Given the description of an element on the screen output the (x, y) to click on. 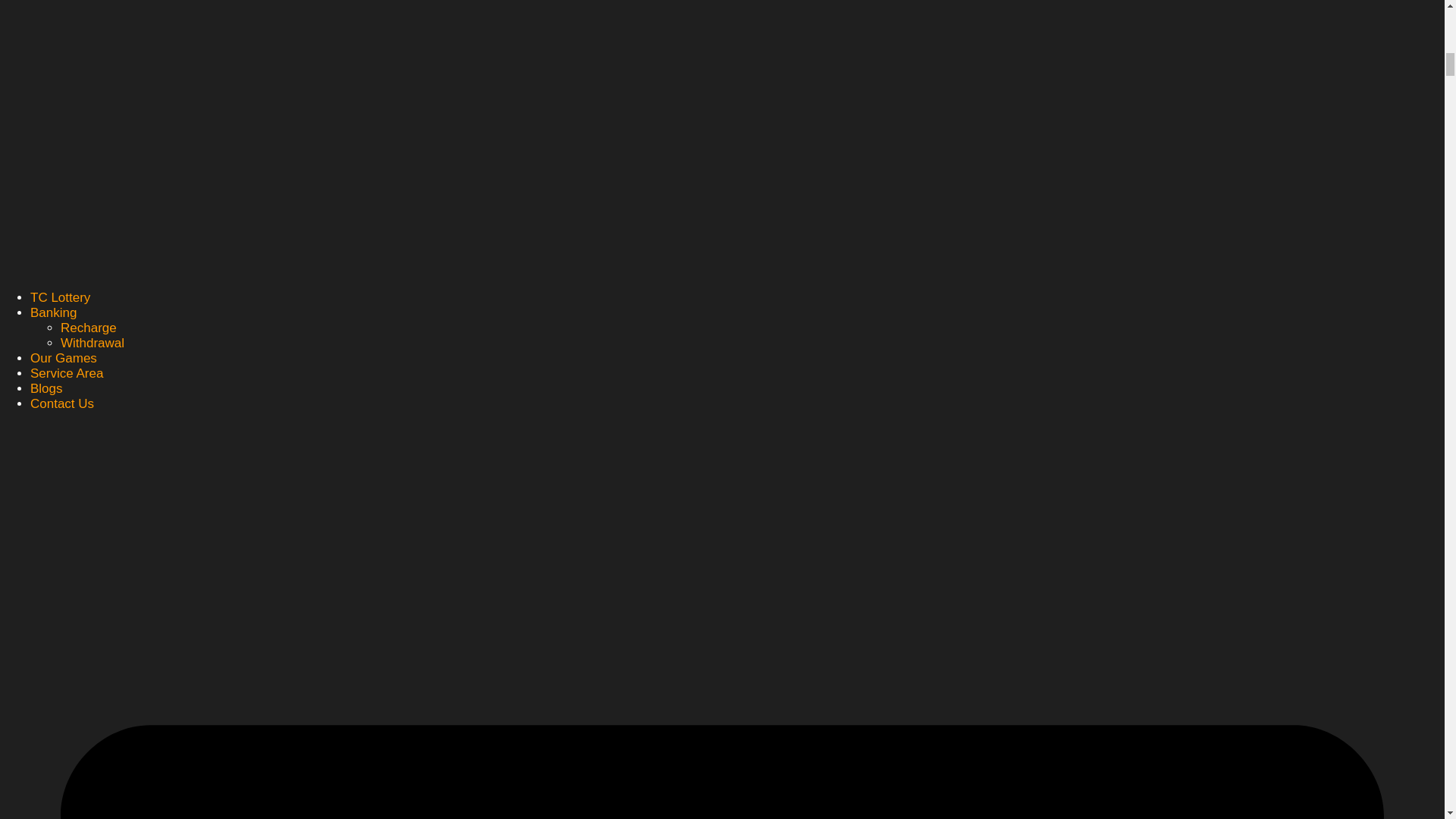
Service Area (66, 373)
Recharge (88, 327)
Blogs (46, 388)
Contact Us (62, 403)
Withdrawal (92, 342)
Our Games (63, 358)
TC Lottery (60, 297)
Banking (53, 312)
